Given the description of an element on the screen output the (x, y) to click on. 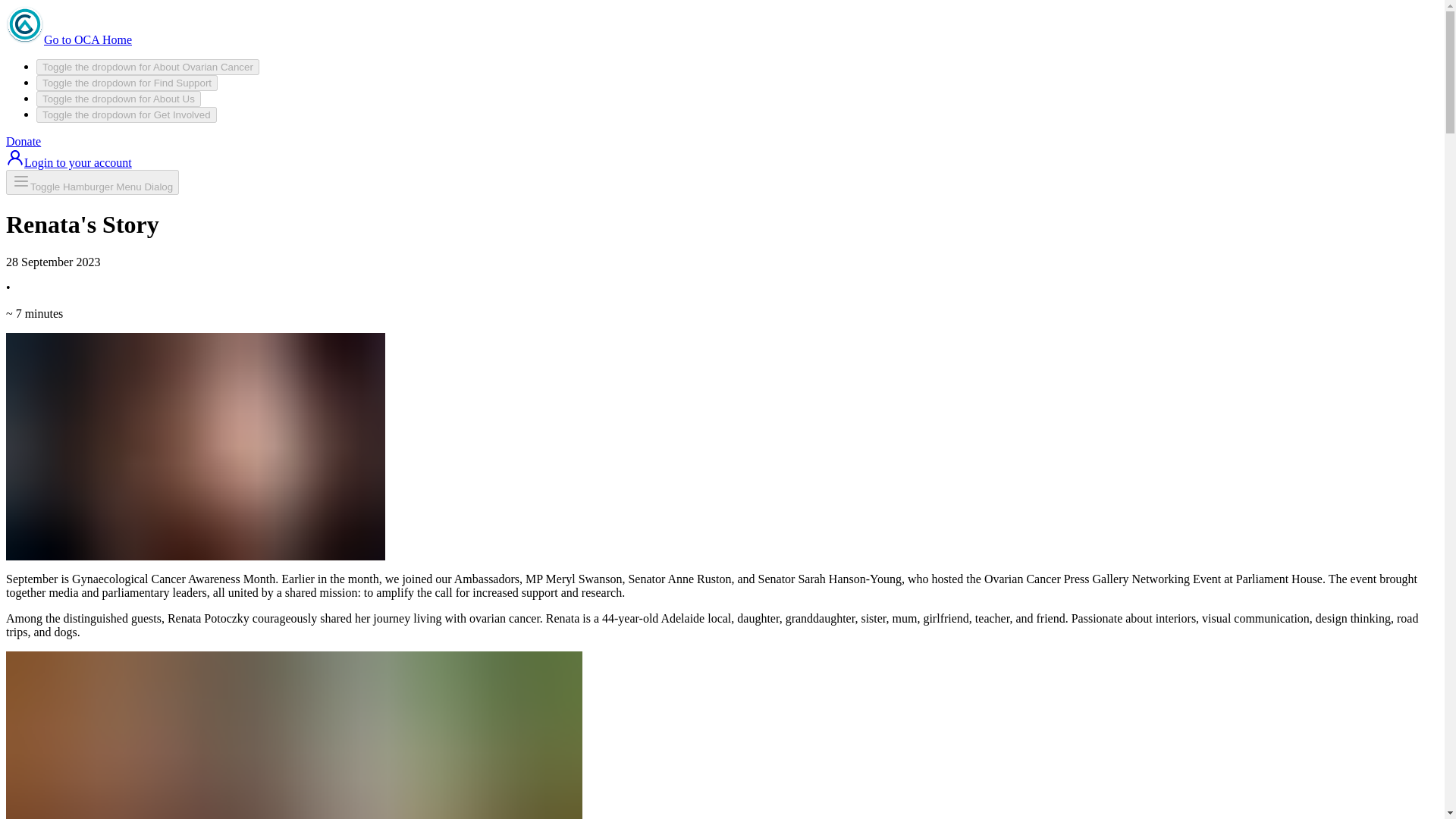
Toggle Hamburger Menu Dialog (92, 181)
Toggle the dropdown for About Ovarian Cancer (147, 66)
Login to your account (68, 162)
Toggle the dropdown for Find Support (126, 82)
Donate (22, 141)
Go to OCA Home (68, 39)
Toggle the dropdown for Get Involved (126, 114)
Toggle the dropdown for About Us (118, 98)
